Given the description of an element on the screen output the (x, y) to click on. 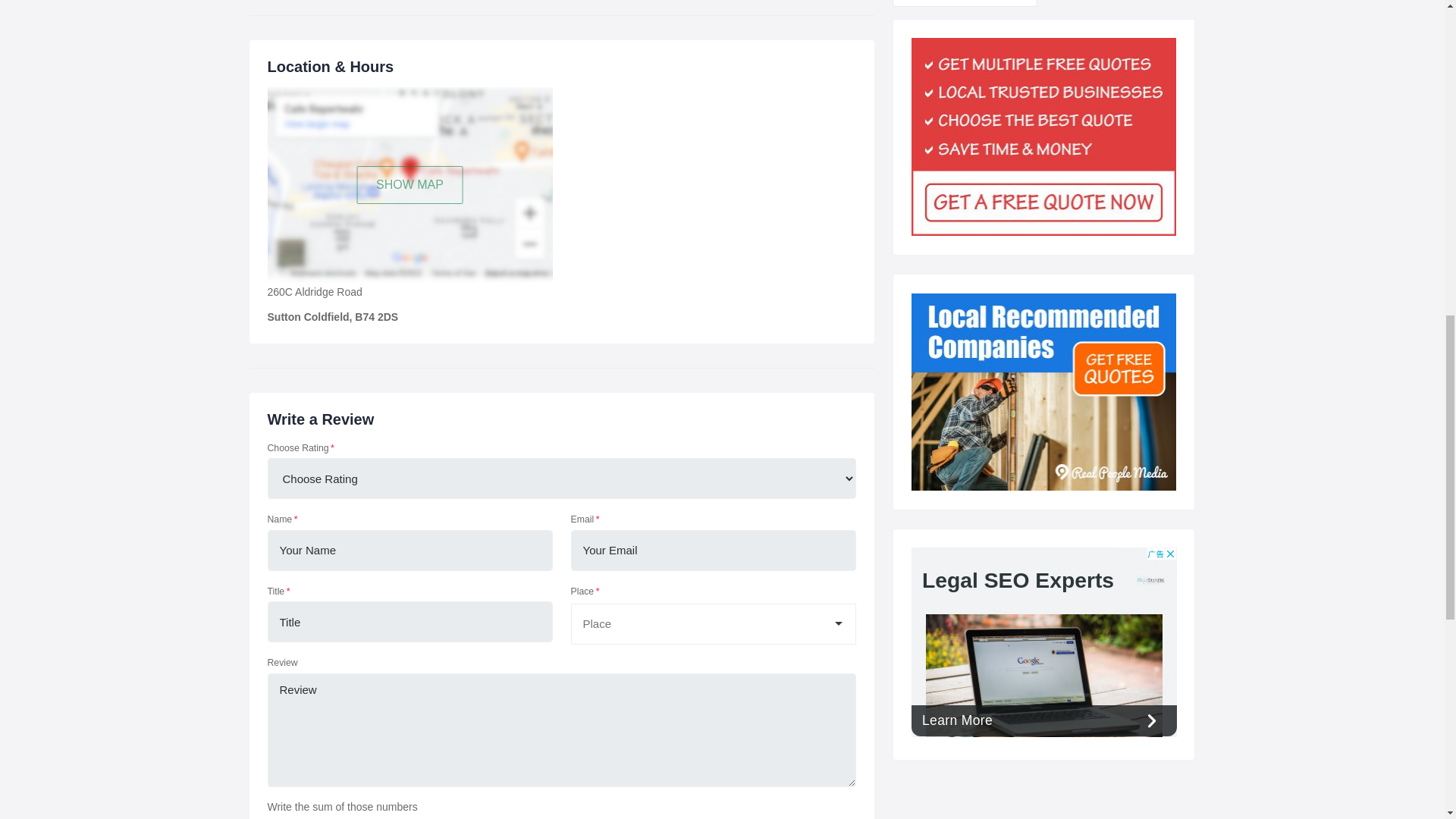
SHOW MAP (409, 184)
Advertisement (1043, 642)
UK Business Directory (1043, 391)
Get a Free Quote (1043, 136)
Share (963, 3)
